Given the description of an element on the screen output the (x, y) to click on. 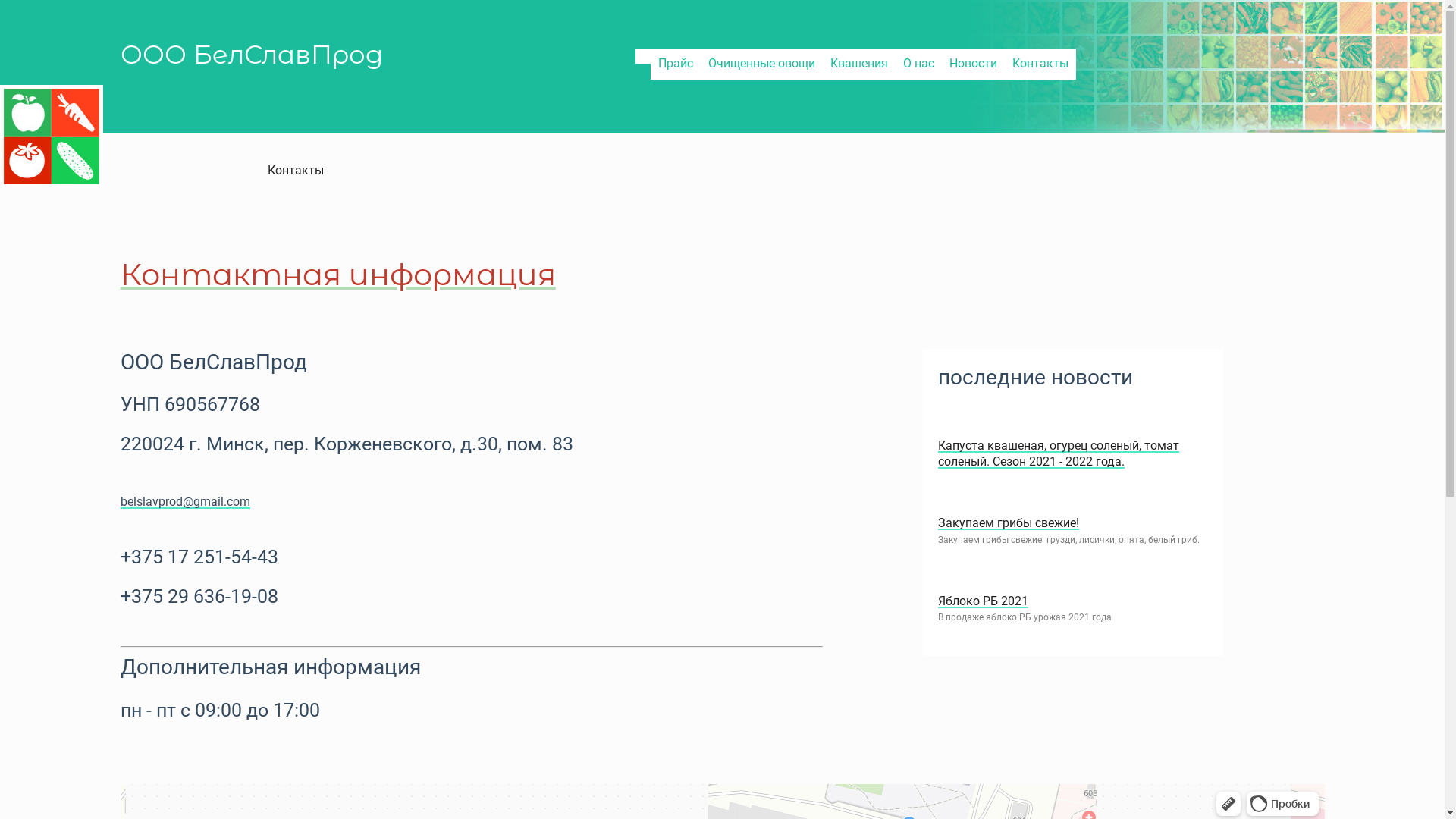
belslavprod@gmail.com Element type: text (185, 501)
